Given the description of an element on the screen output the (x, y) to click on. 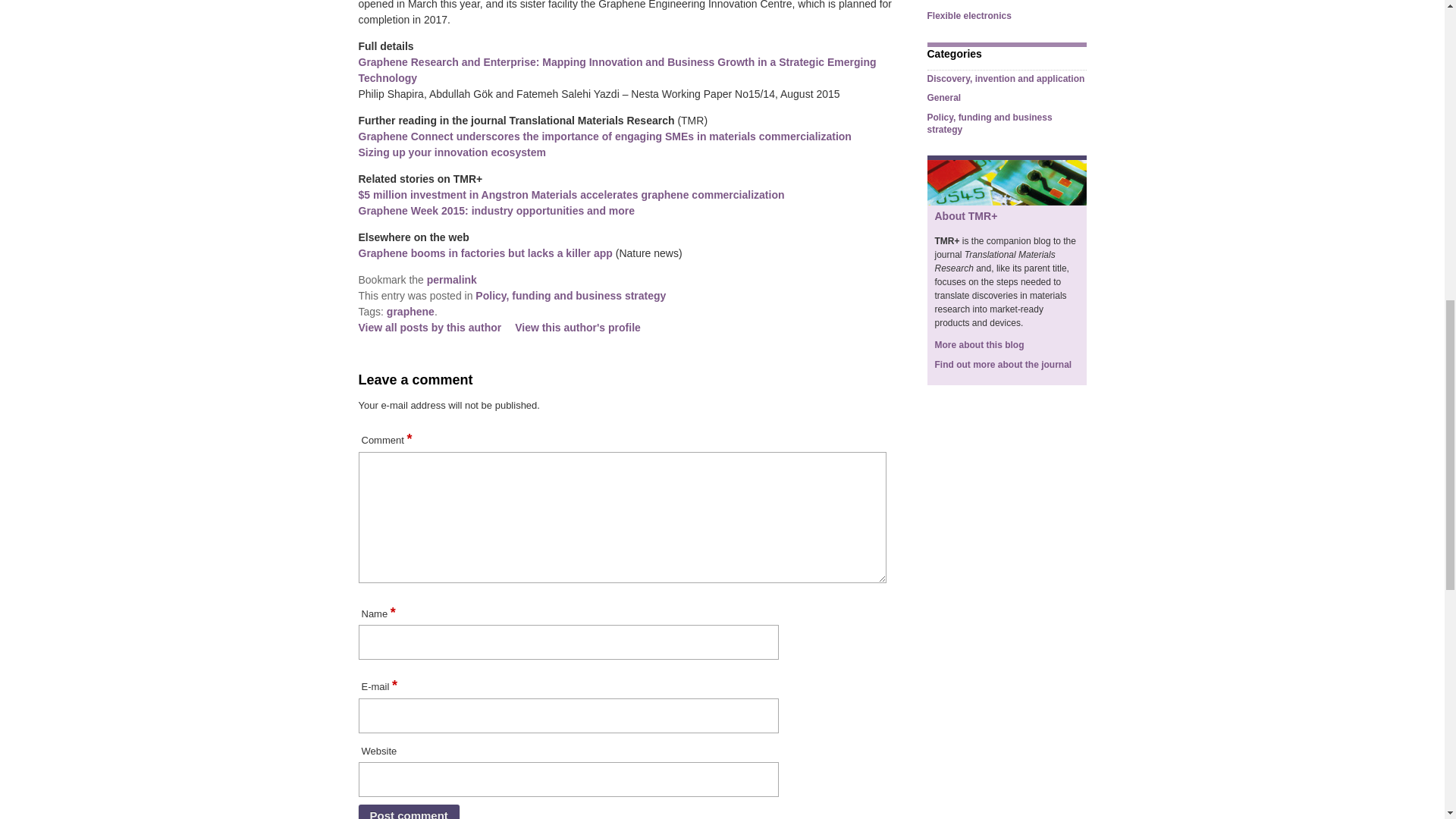
Sizing up your innovation ecosystem (451, 152)
View this author's profile (577, 327)
graphene (410, 311)
Graphene Week 2015: industry opportunities and more (496, 210)
permalink (451, 279)
Graphene booms in factories but lacks a killer app (484, 253)
View all posts by this author (429, 327)
Policy, funding and business strategy (570, 295)
